Given the description of an element on the screen output the (x, y) to click on. 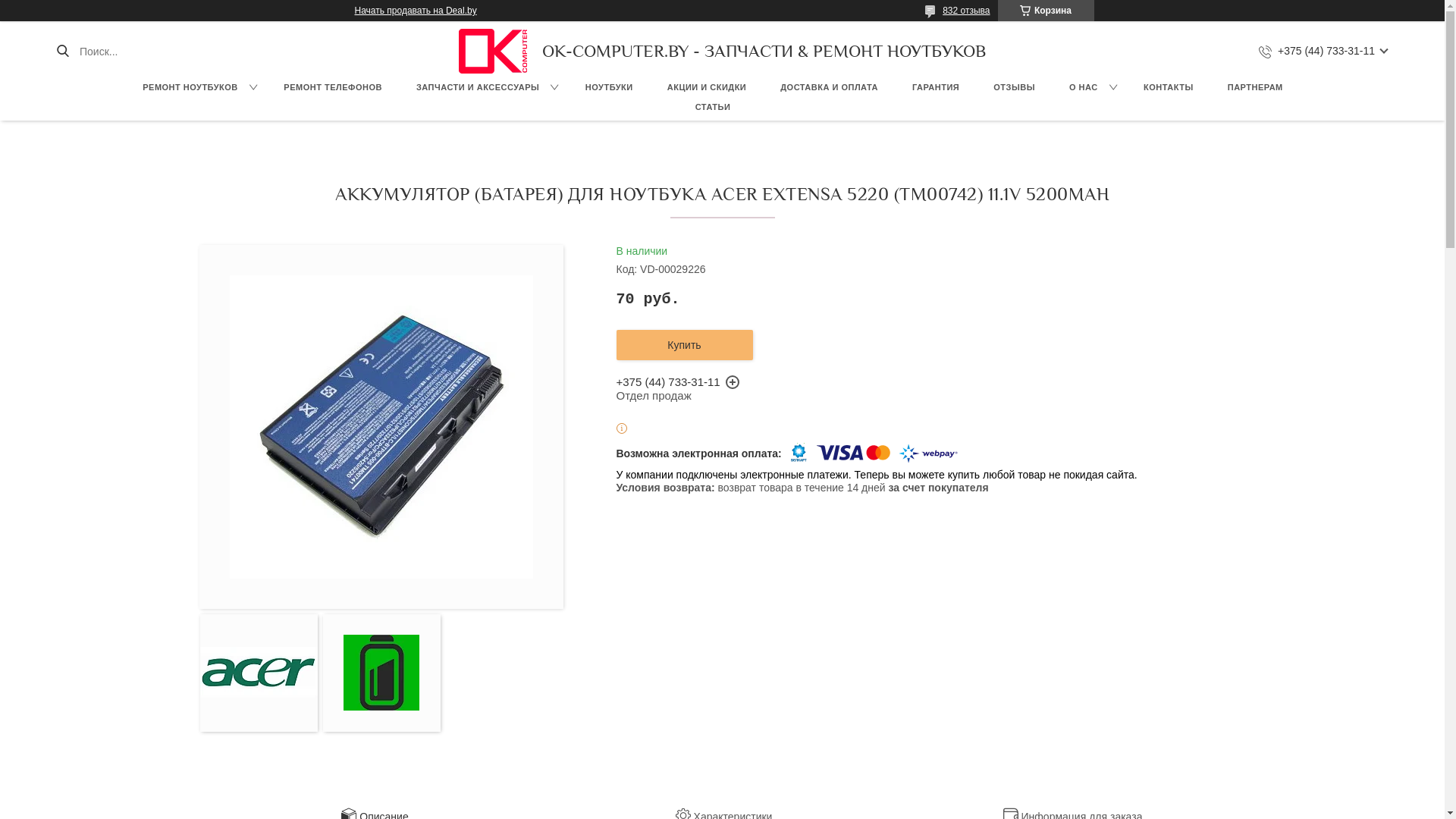
OK-COMPUTER Element type: hover (492, 50)
